Given the description of an element on the screen output the (x, y) to click on. 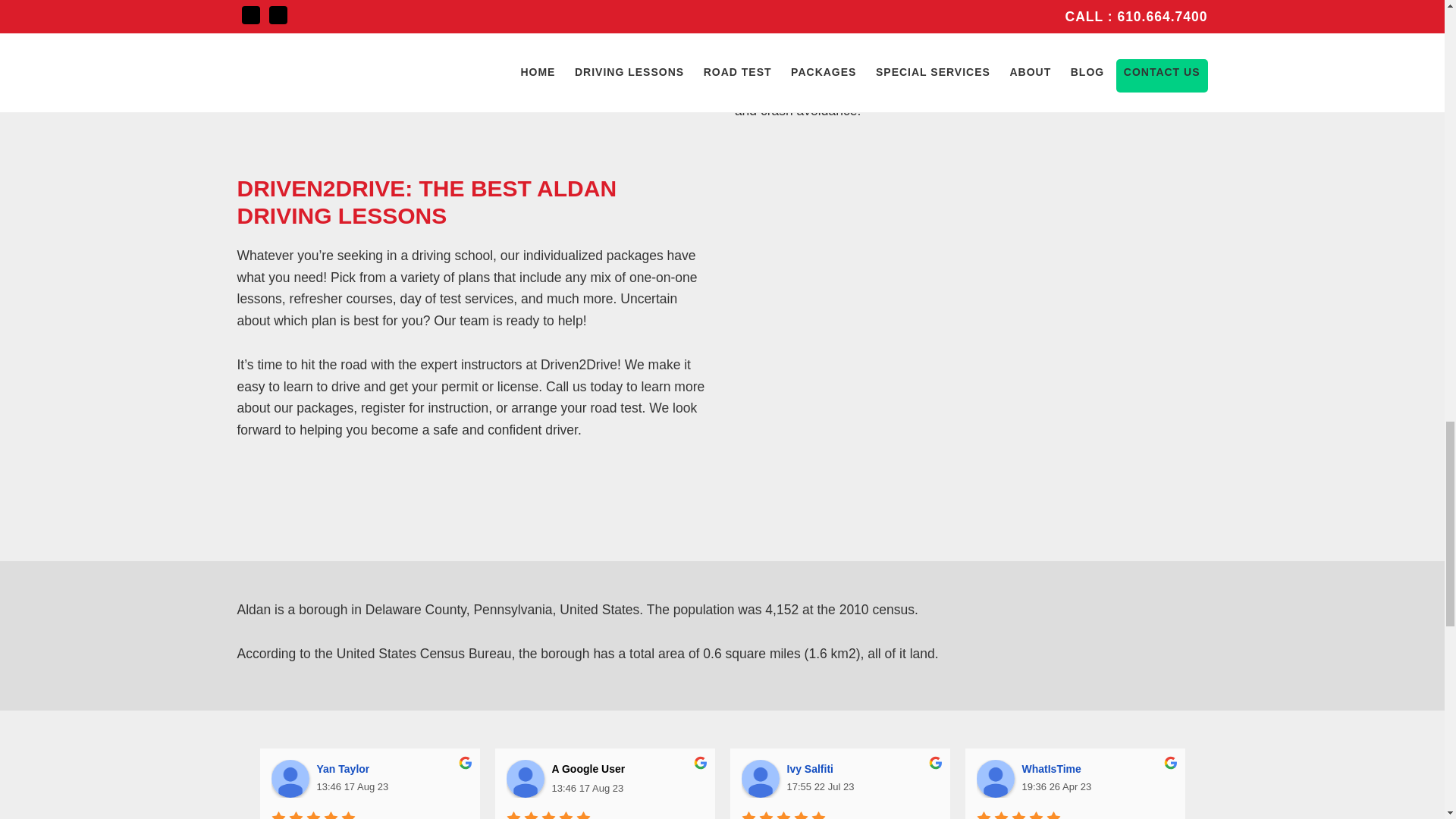
Yan Taylor (345, 768)
A Google User (525, 778)
Ritzy Riches (1290, 768)
Ivy Salfiti (812, 768)
WhatIsTime (995, 778)
Yan Taylor (289, 778)
WhatIsTime (1054, 768)
Ivy Salfiti (759, 778)
Ritzy Riches (1230, 778)
